Given the description of an element on the screen output the (x, y) to click on. 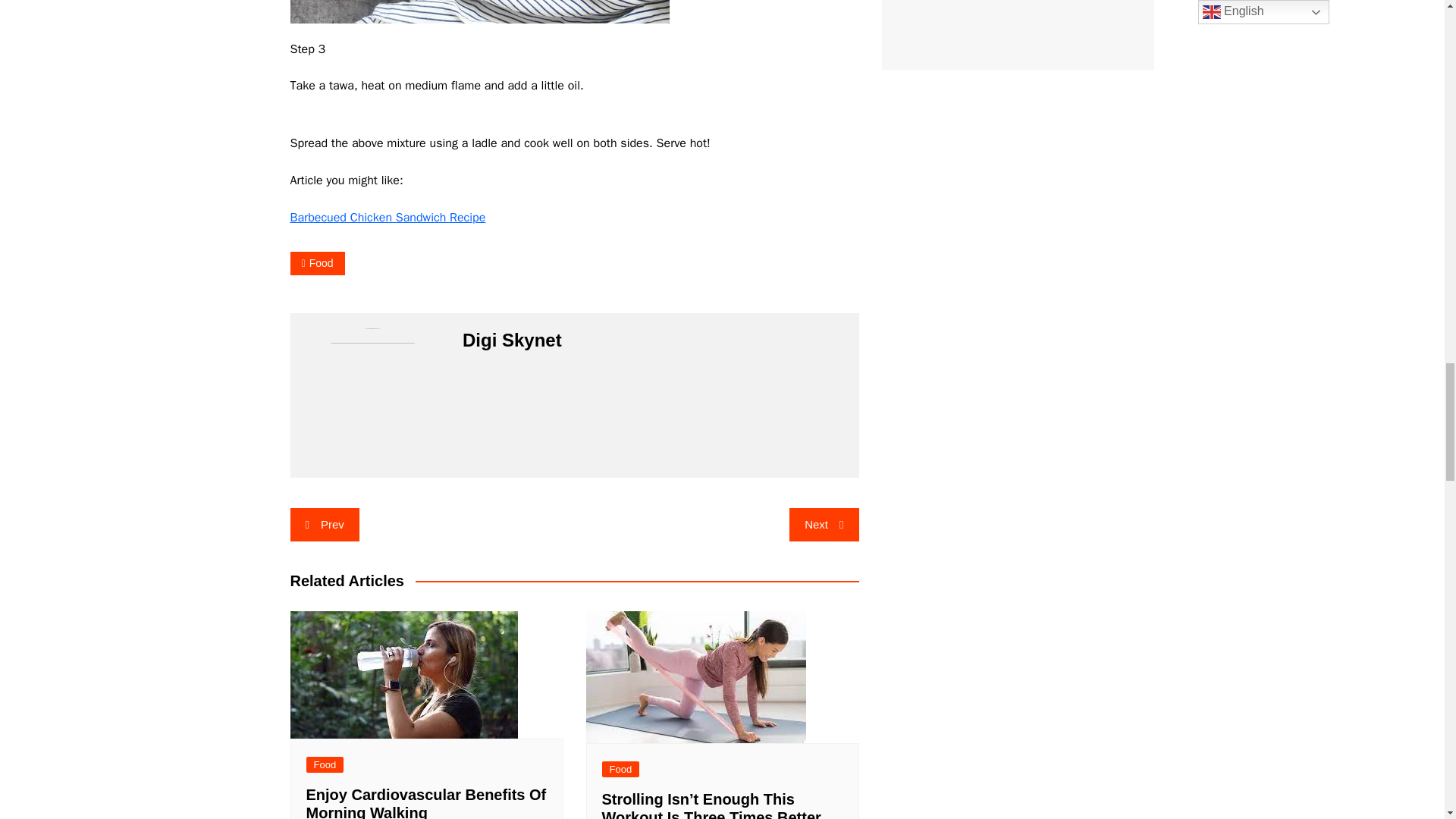
Enjoy Cardiovascular Benefits Of Morning Walking (402, 674)
Barbecued Chicken Sandwich Recipe (386, 217)
Food (316, 263)
Besan Adai Recipe (478, 11)
